Given the description of an element on the screen output the (x, y) to click on. 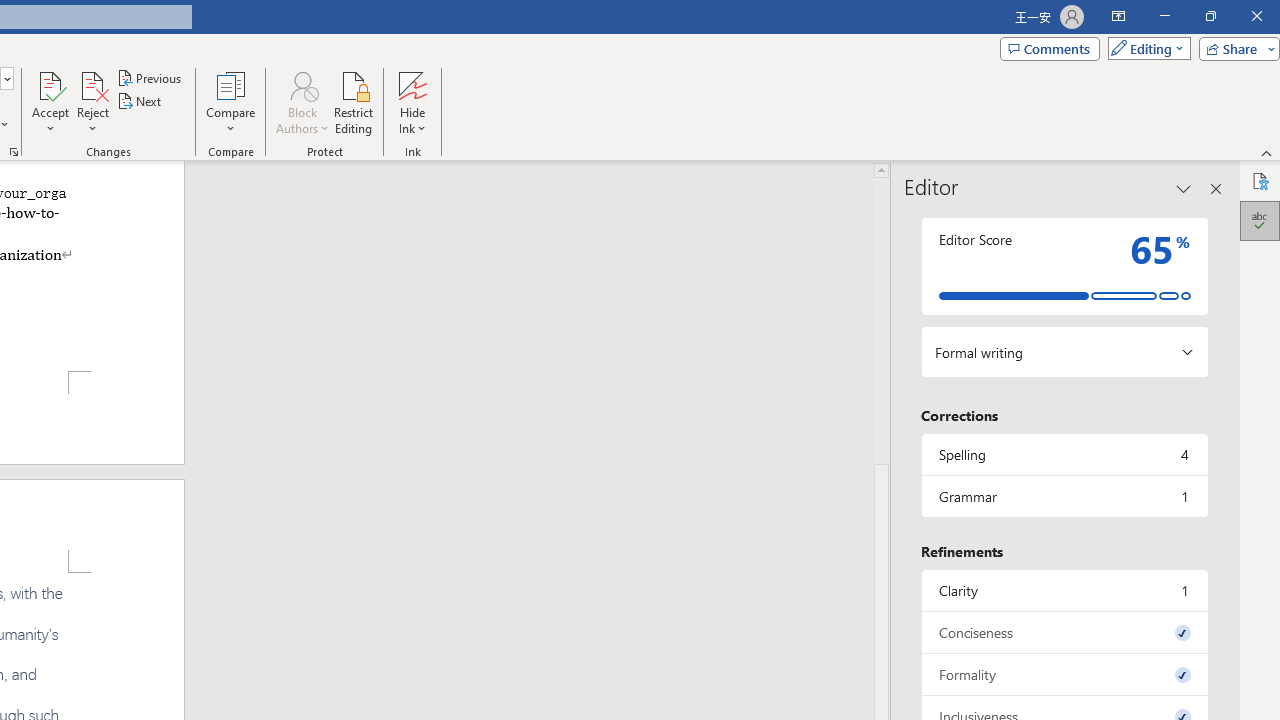
Accept and Move to Next (50, 84)
Block Authors (302, 84)
Hide Ink (412, 102)
